Given the description of an element on the screen output the (x, y) to click on. 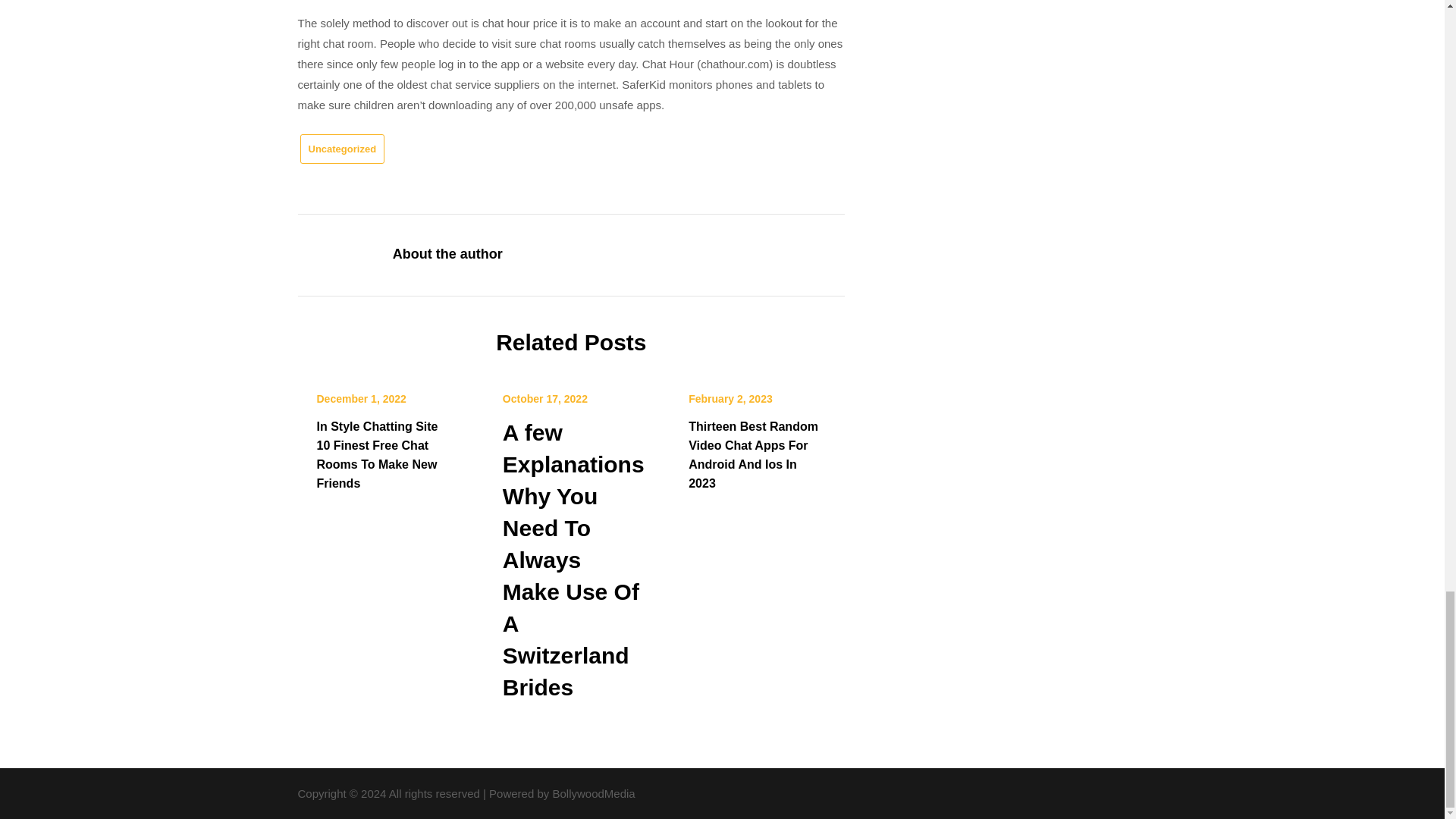
Uncategorized (342, 148)
